Given the description of an element on the screen output the (x, y) to click on. 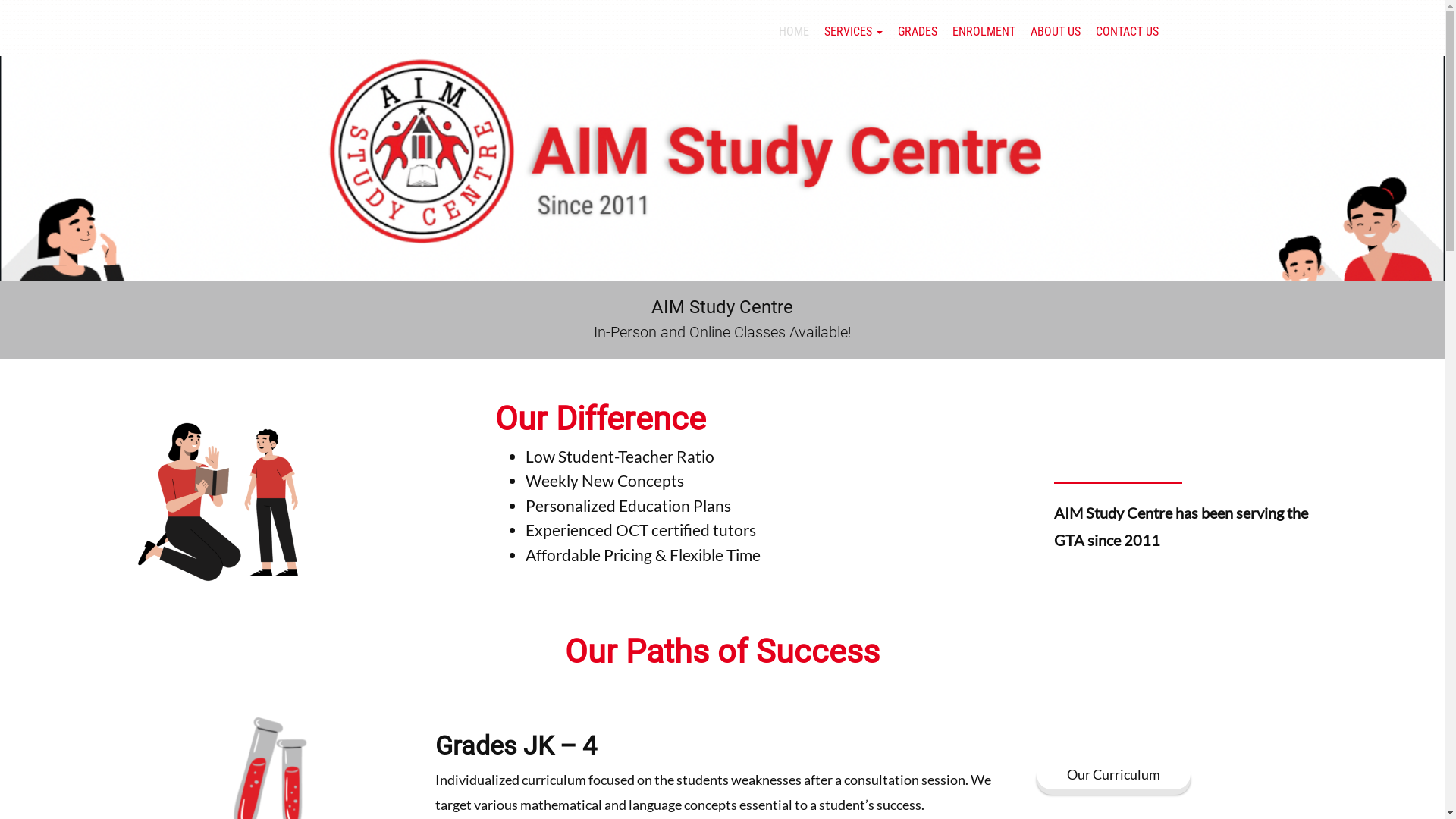
HOME Element type: text (792, 31)
CONTACT US Element type: text (1126, 31)
ABOUT US Element type: text (1054, 31)
Our Curriculum Element type: text (1113, 774)
ENROLMENT Element type: text (983, 31)
SERVICES Element type: text (852, 31)
GRADES Element type: text (917, 31)
